Given the description of an element on the screen output the (x, y) to click on. 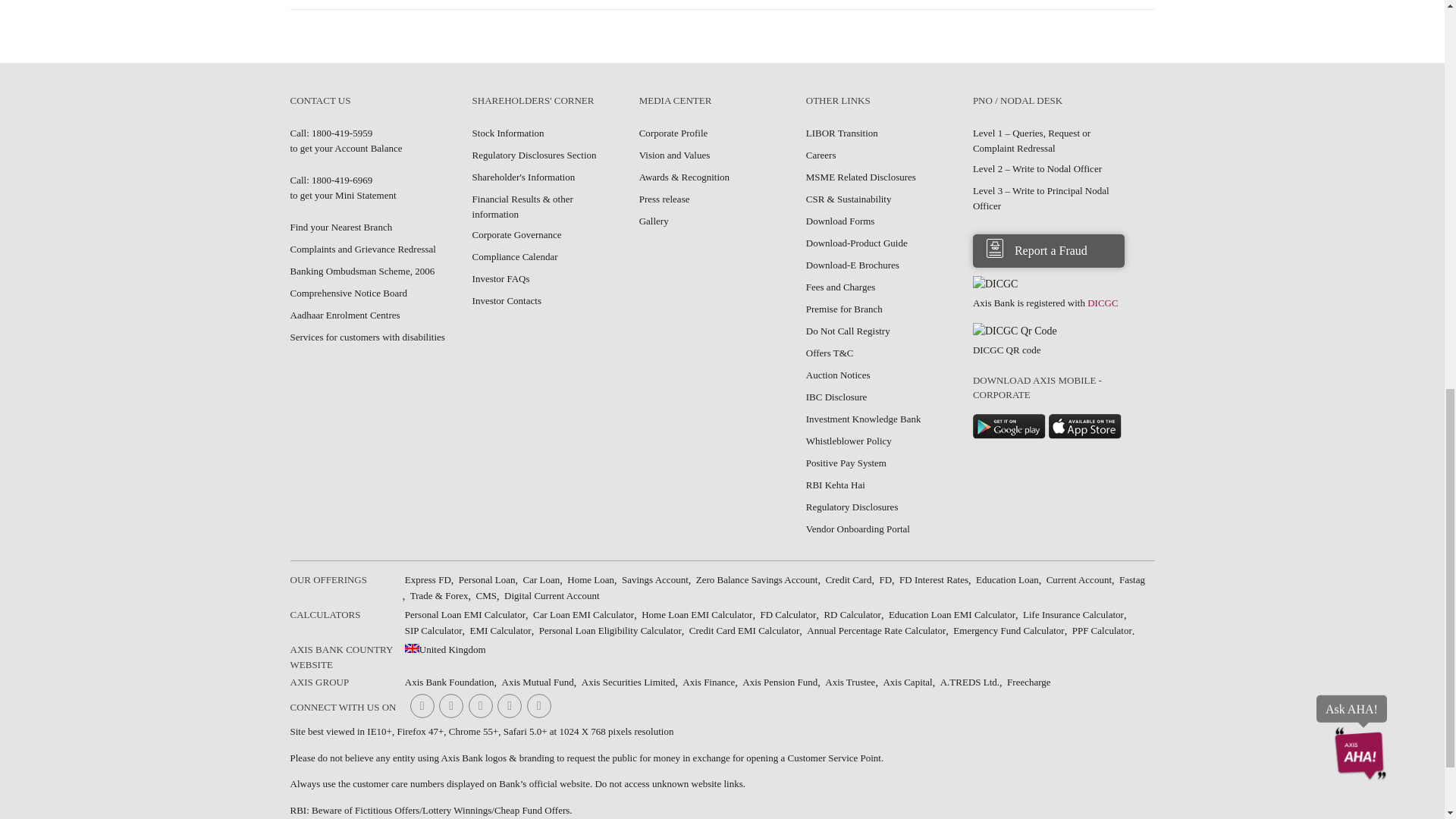
 to get your Mini Statement (330, 180)
DICGC Qr Code (1014, 330)
 to get your Account Balance (330, 133)
DICGC (994, 283)
